Given the description of an element on the screen output the (x, y) to click on. 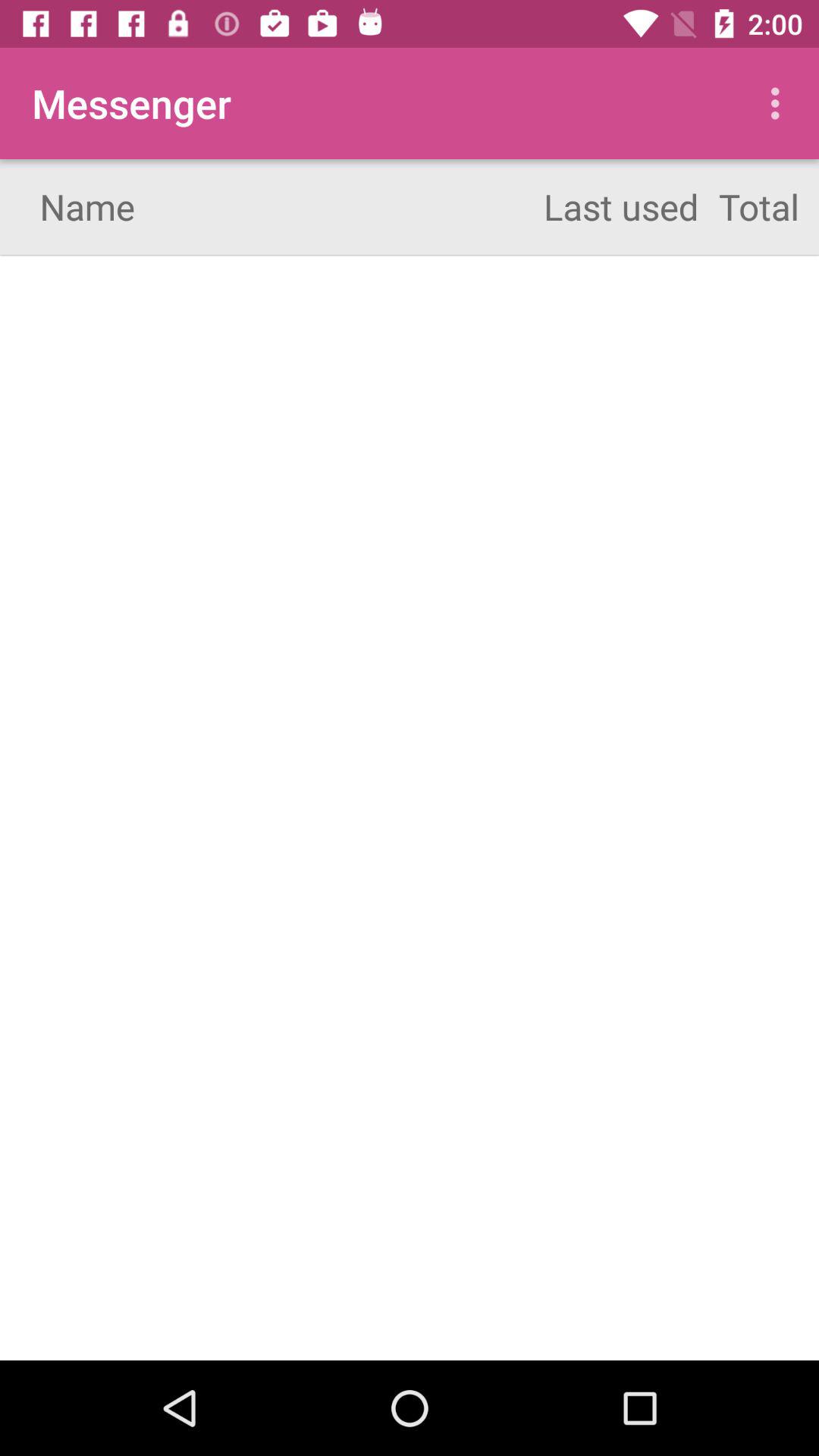
turn off item next to last used item (779, 103)
